Given the description of an element on the screen output the (x, y) to click on. 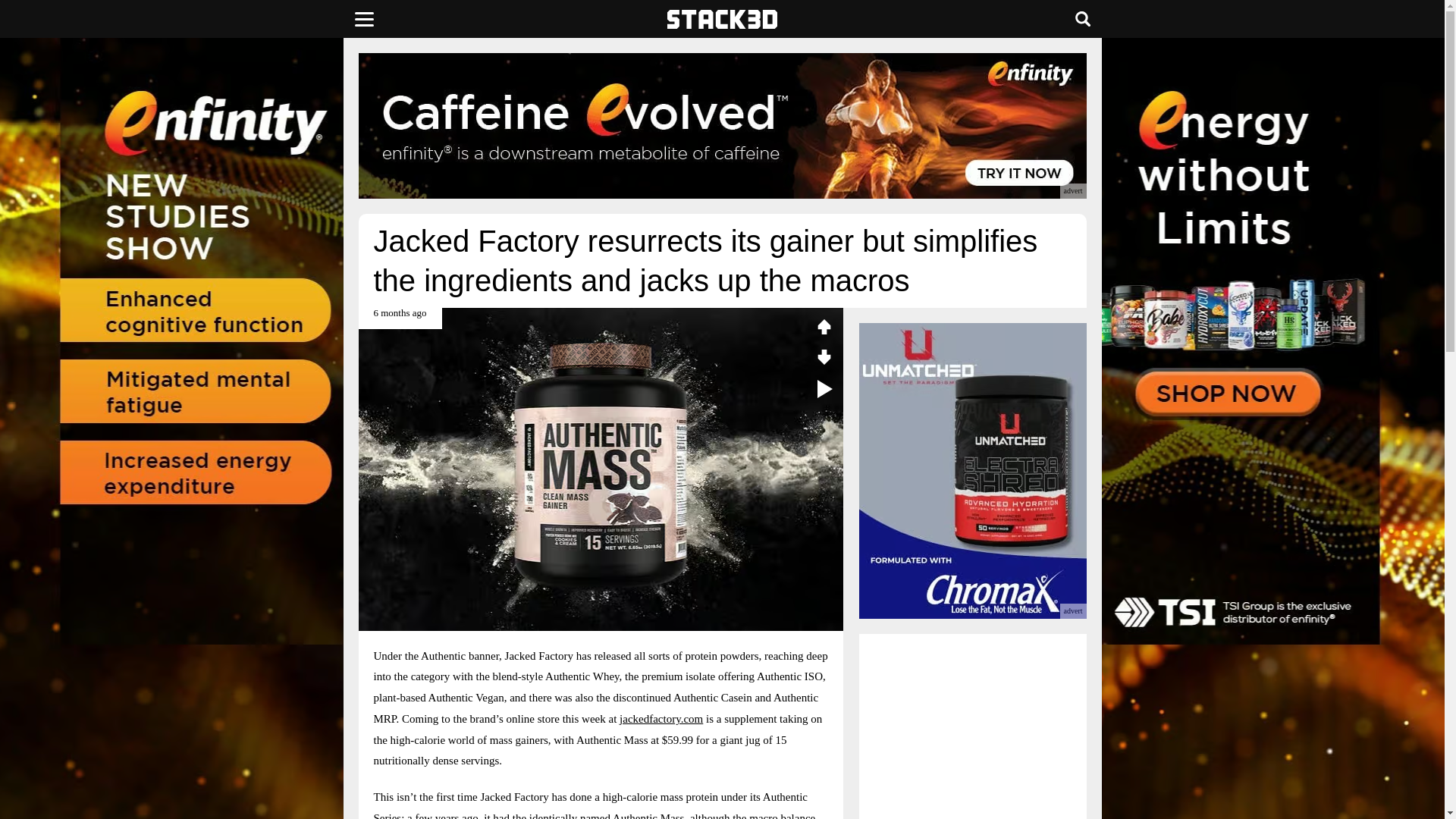
Authentic Mass (648, 815)
January 15th 2024 (399, 318)
jackedfactory.com (661, 718)
